Given the description of an element on the screen output the (x, y) to click on. 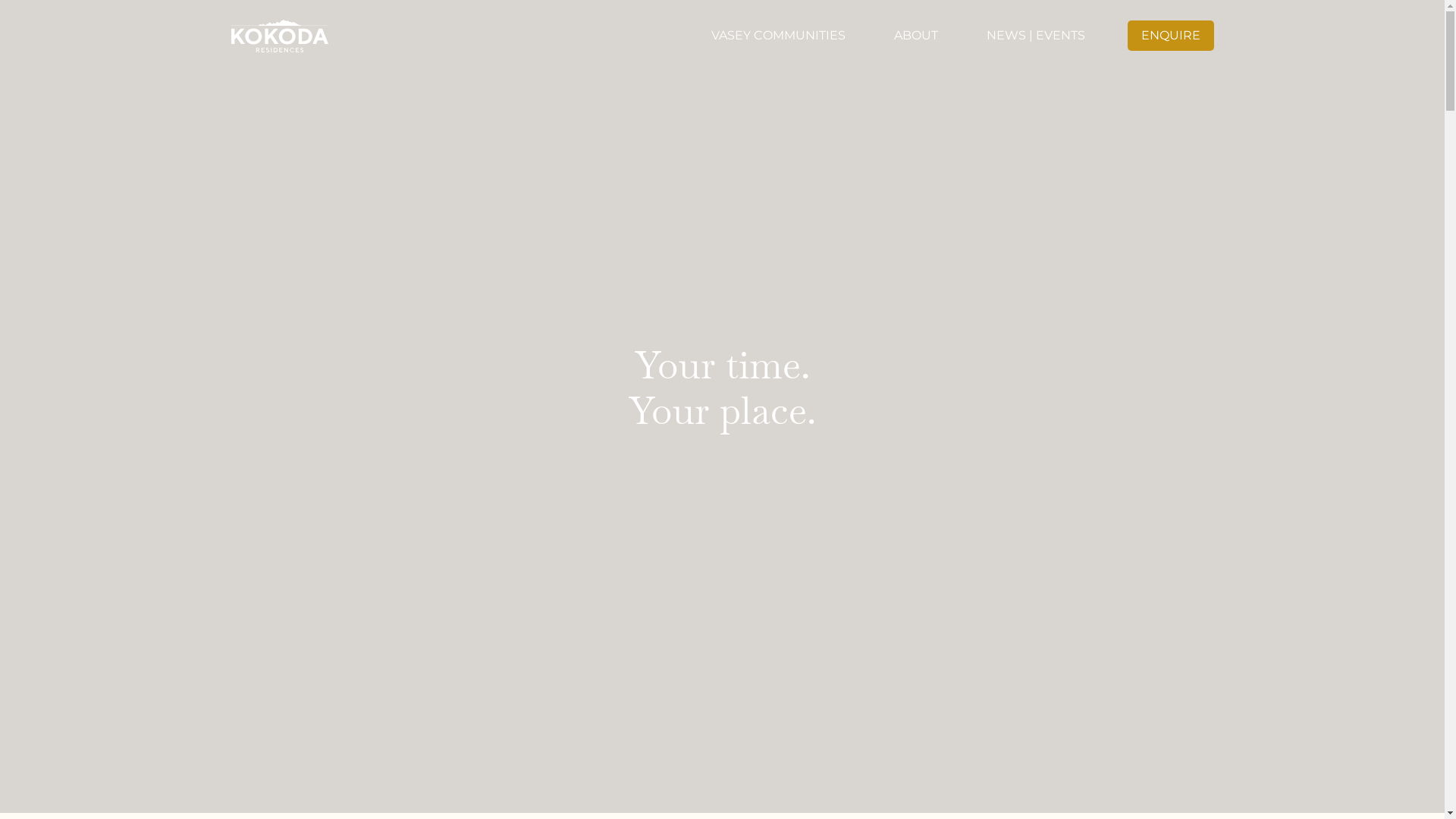
ABOUT Element type: text (915, 34)
VASEY COMMUNITIES Element type: text (778, 34)
Kokoda Residences 1920x1080 (1080p) Element type: hover (722, 406)
ENQUIRE Element type: text (1169, 34)
NEWS | EVENTS Element type: text (1034, 34)
